Given the description of an element on the screen output the (x, y) to click on. 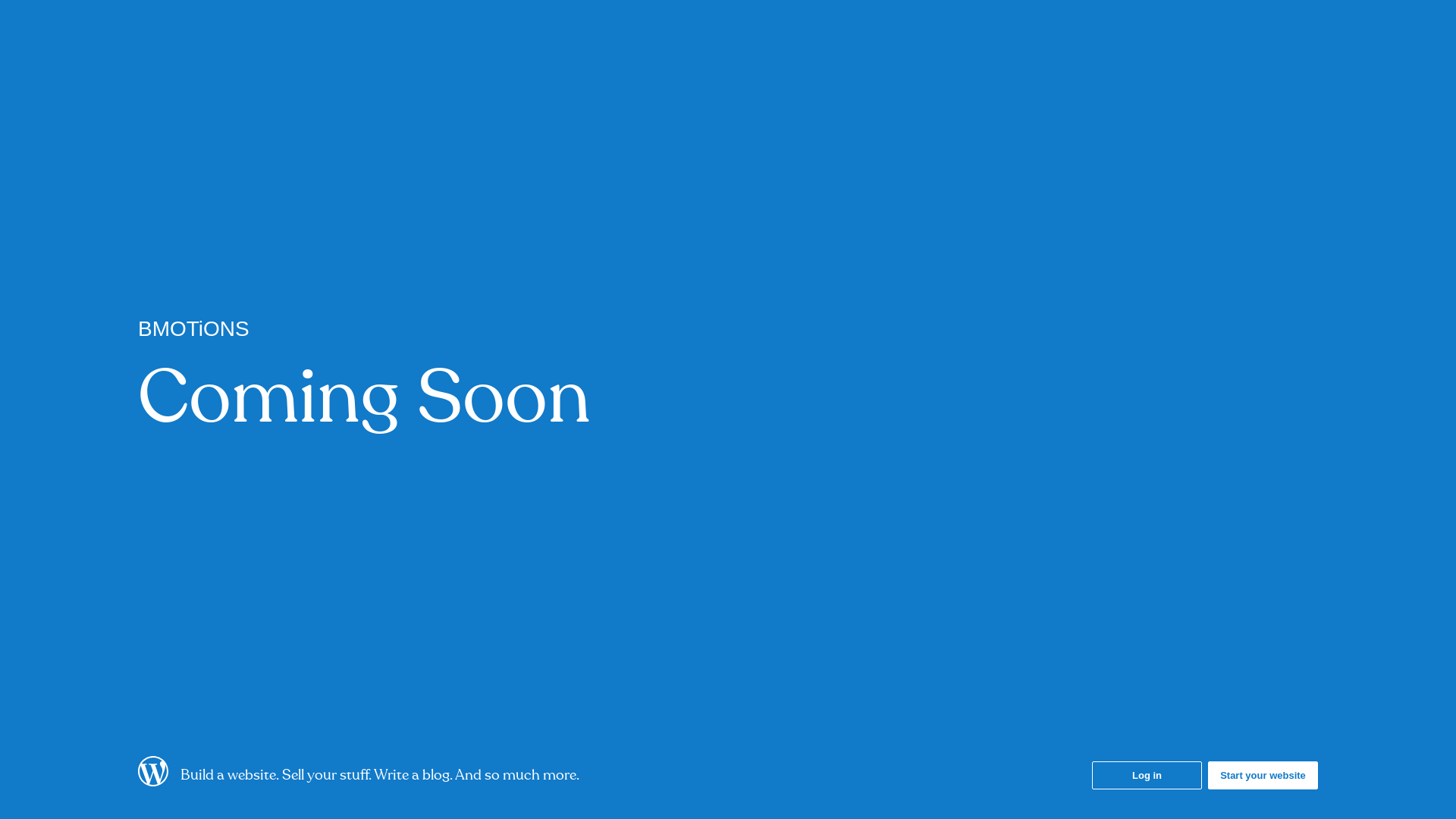
Start your website Element type: text (1262, 775)
Log in Element type: text (1146, 775)
WordPress.com Element type: text (153, 781)
